Given the description of an element on the screen output the (x, y) to click on. 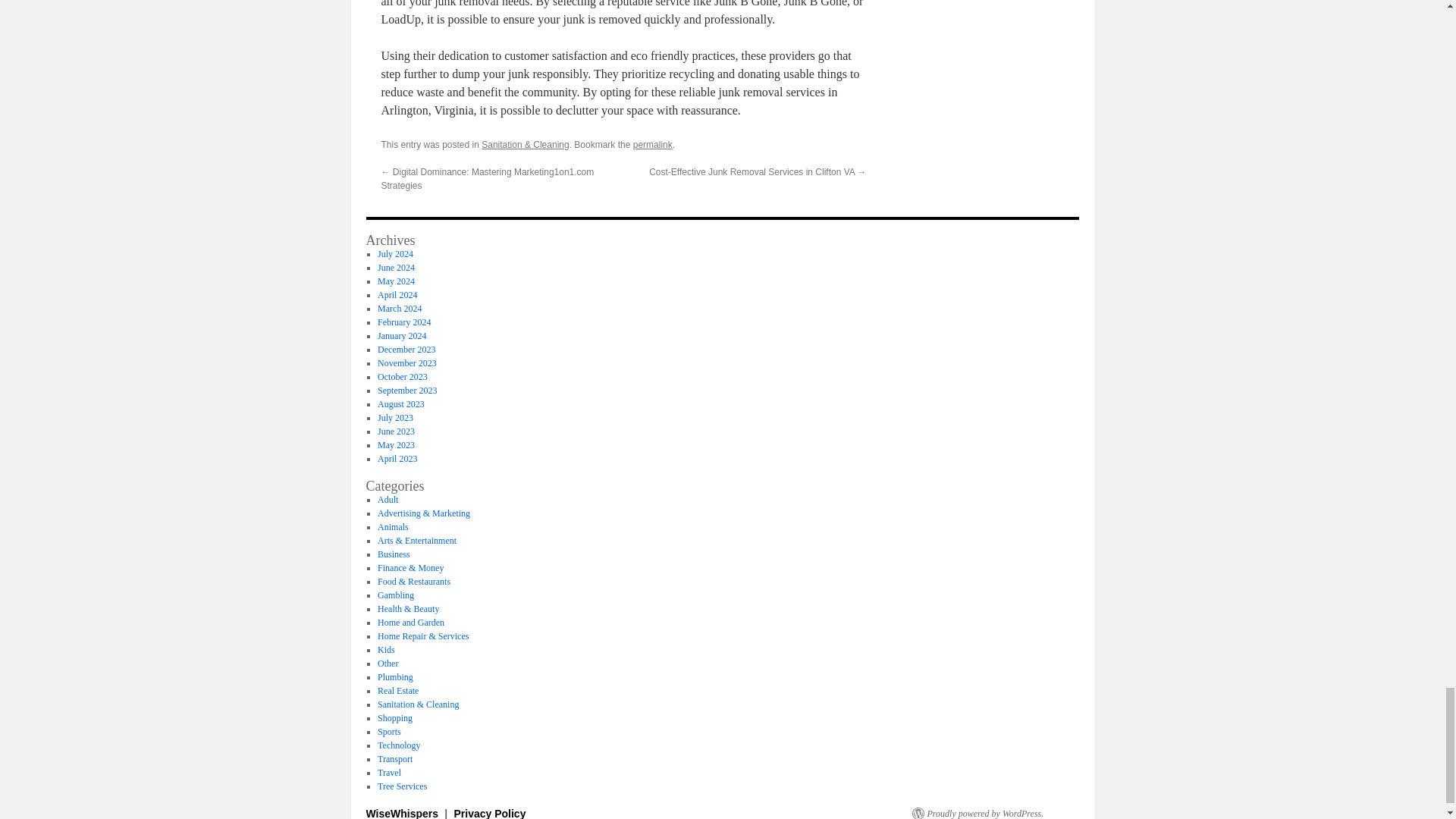
January 2024 (401, 335)
August 2024 (401, 240)
July 2023 (395, 417)
Adult (387, 499)
permalink (652, 131)
June 2024 (395, 267)
May 2023 (395, 444)
August 2023 (401, 403)
April 2023 (396, 458)
May 2024 (395, 281)
